Given the description of an element on the screen output the (x, y) to click on. 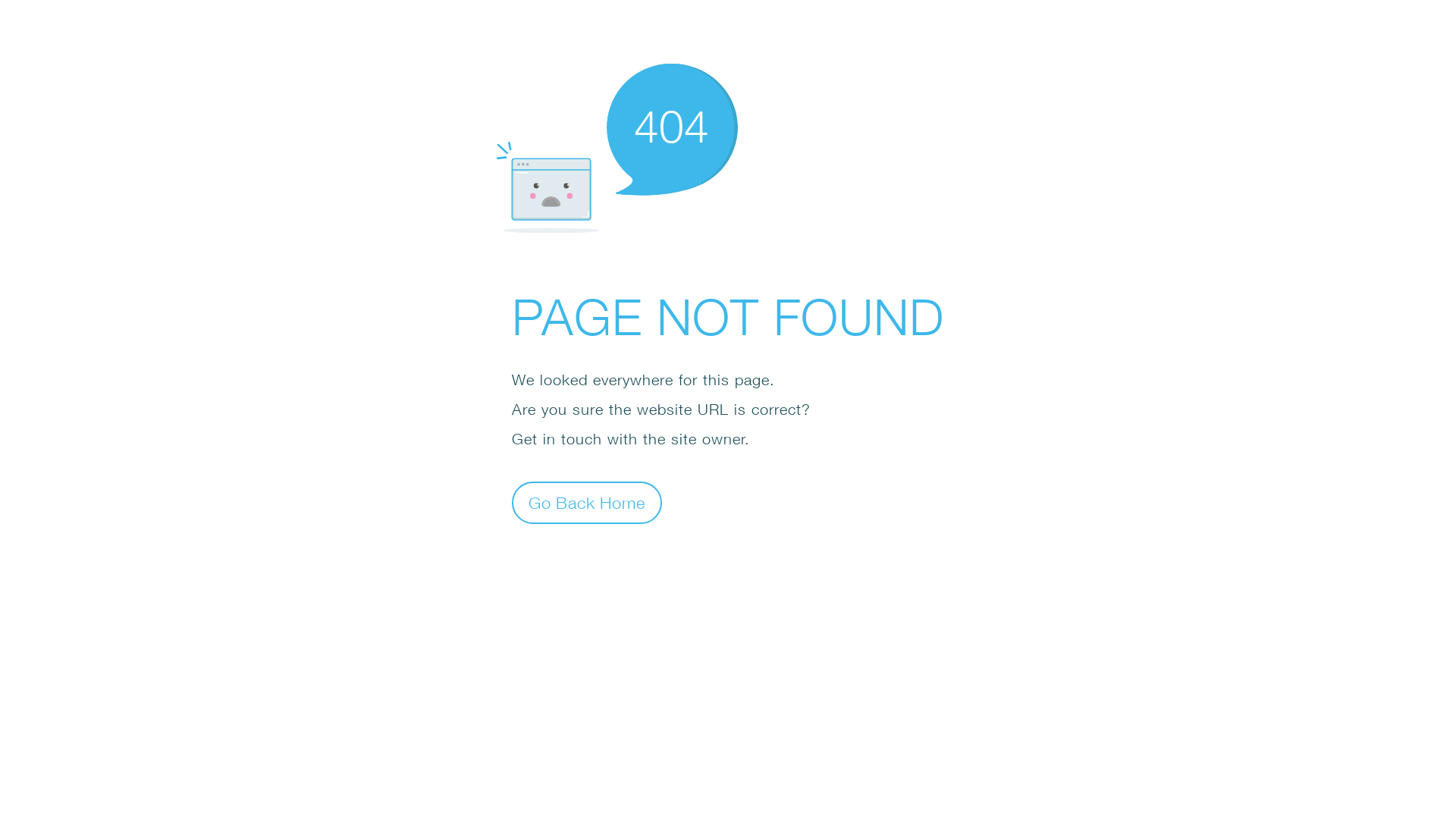
Go Back Home Element type: text (586, 502)
